Given the description of an element on the screen output the (x, y) to click on. 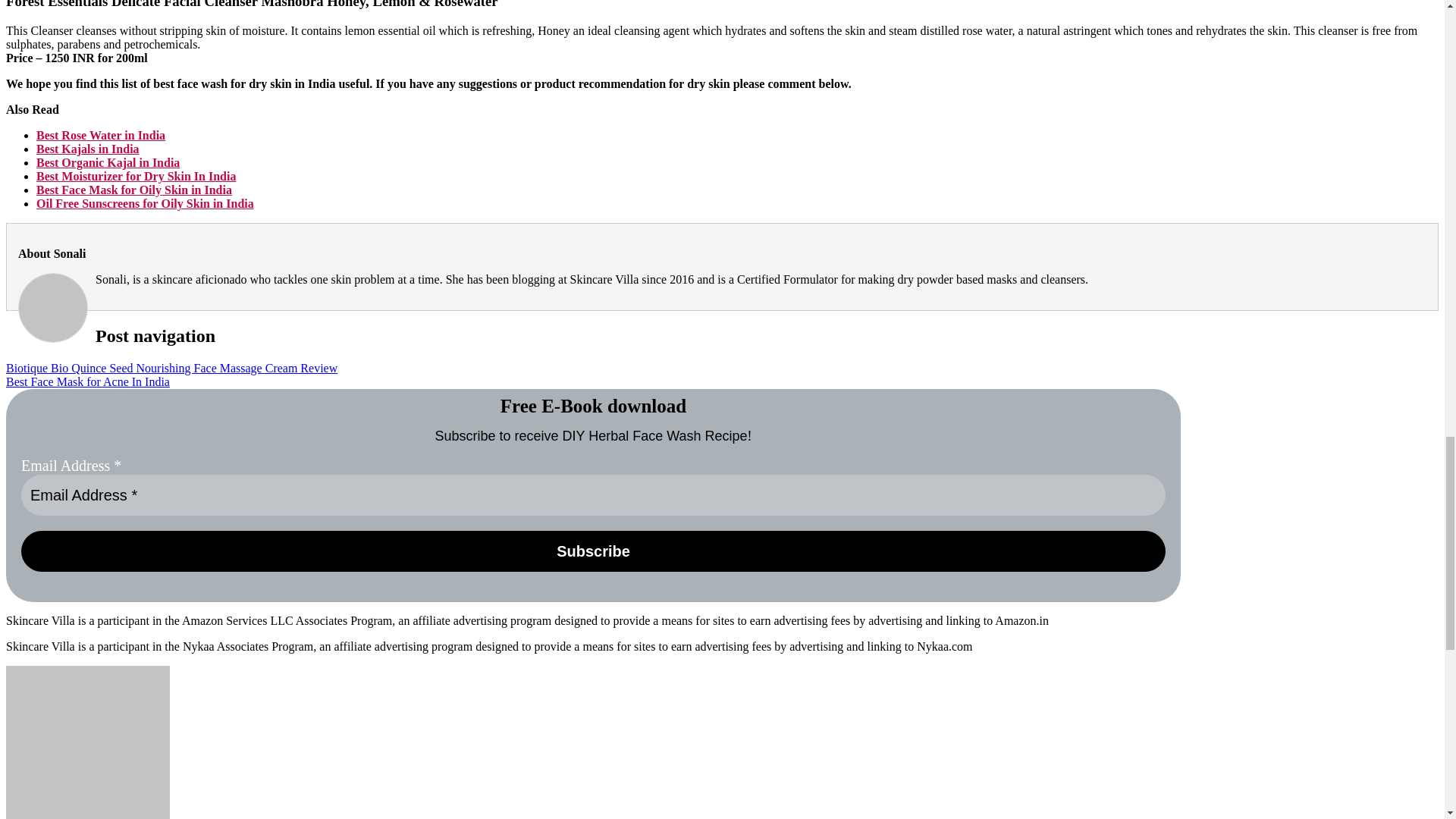
Best Face Mask for Oily Skin in India (133, 189)
Best Organic Kajal in India (107, 162)
Email Address (593, 495)
Best Kajals in India (87, 148)
Oil Free Sunscreens for Oily Skin in India (144, 203)
Best Moisturizer for Dry Skin In India (135, 175)
Best Rose Water in India (100, 134)
Subscribe (593, 550)
Subscribe (593, 550)
Best Face Mask for Acne In India (87, 381)
